Given the description of an element on the screen output the (x, y) to click on. 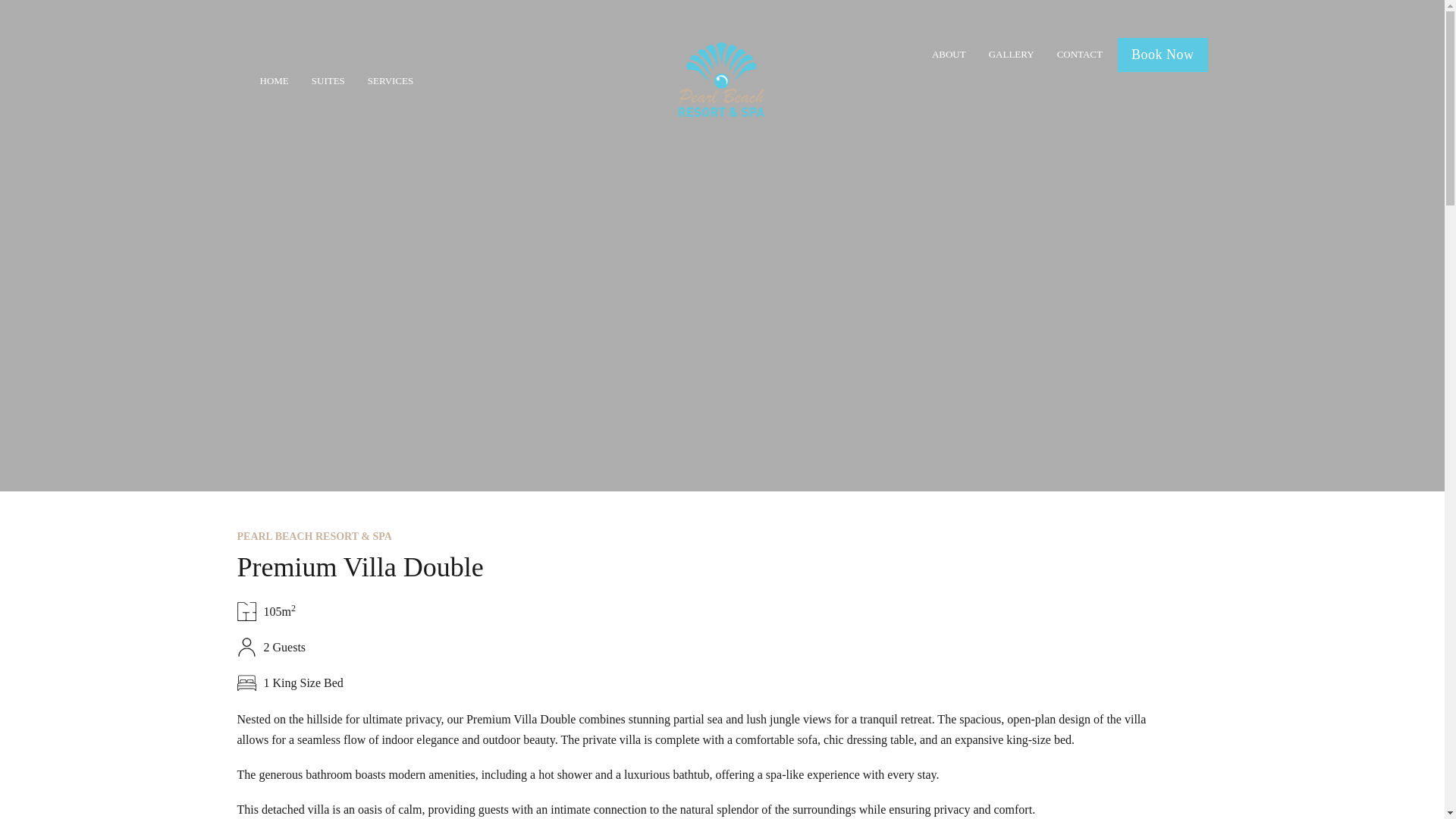
SERVICES (390, 80)
GALLERY (1010, 54)
Book Now (1163, 54)
SUITES (328, 80)
ABOUT (948, 54)
HOME (273, 80)
CONTACT (1079, 54)
